Given the description of an element on the screen output the (x, y) to click on. 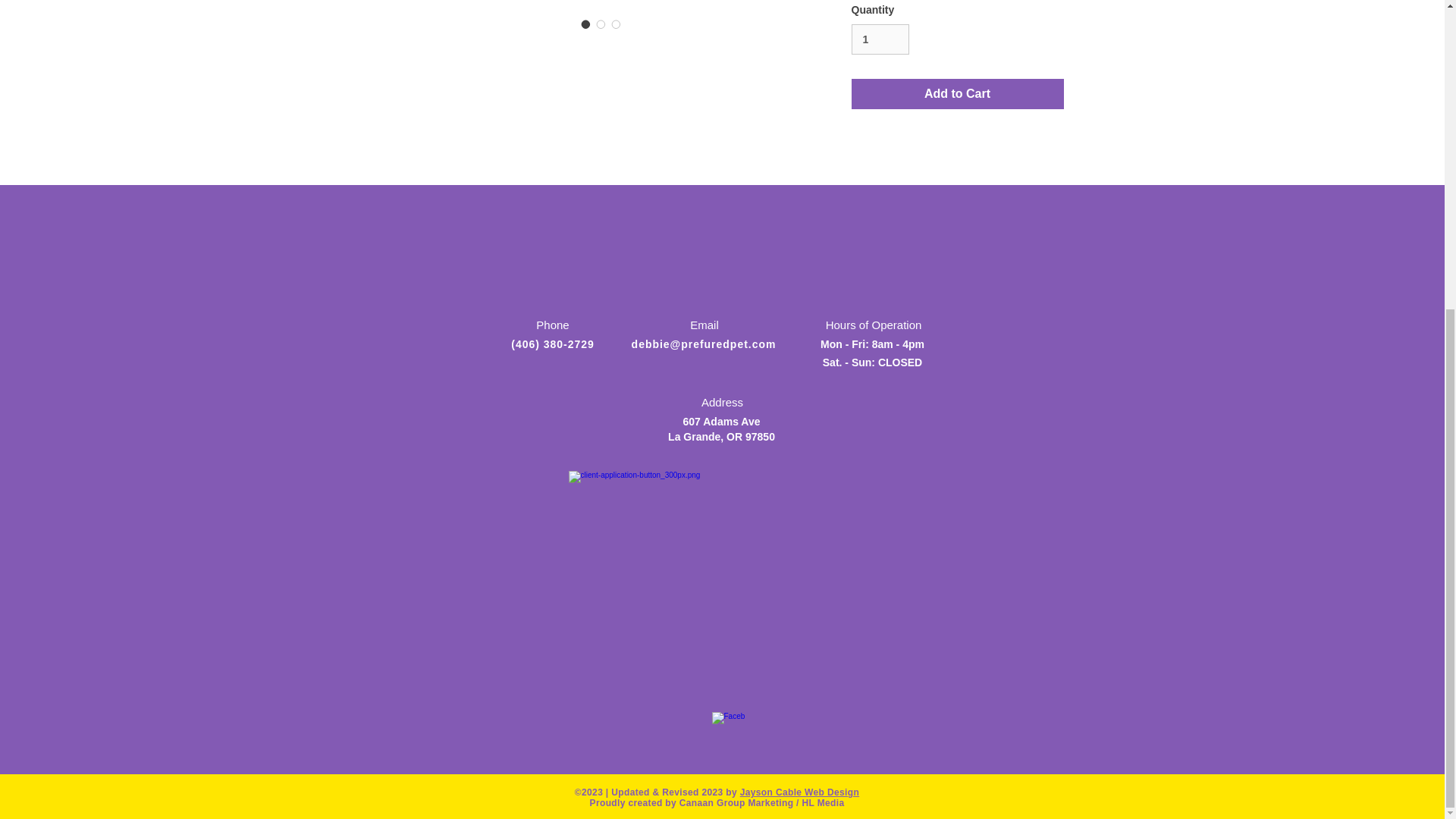
1 (879, 39)
Jayson Cable Web Design (799, 792)
Add to Cart (956, 93)
